Given the description of an element on the screen output the (x, y) to click on. 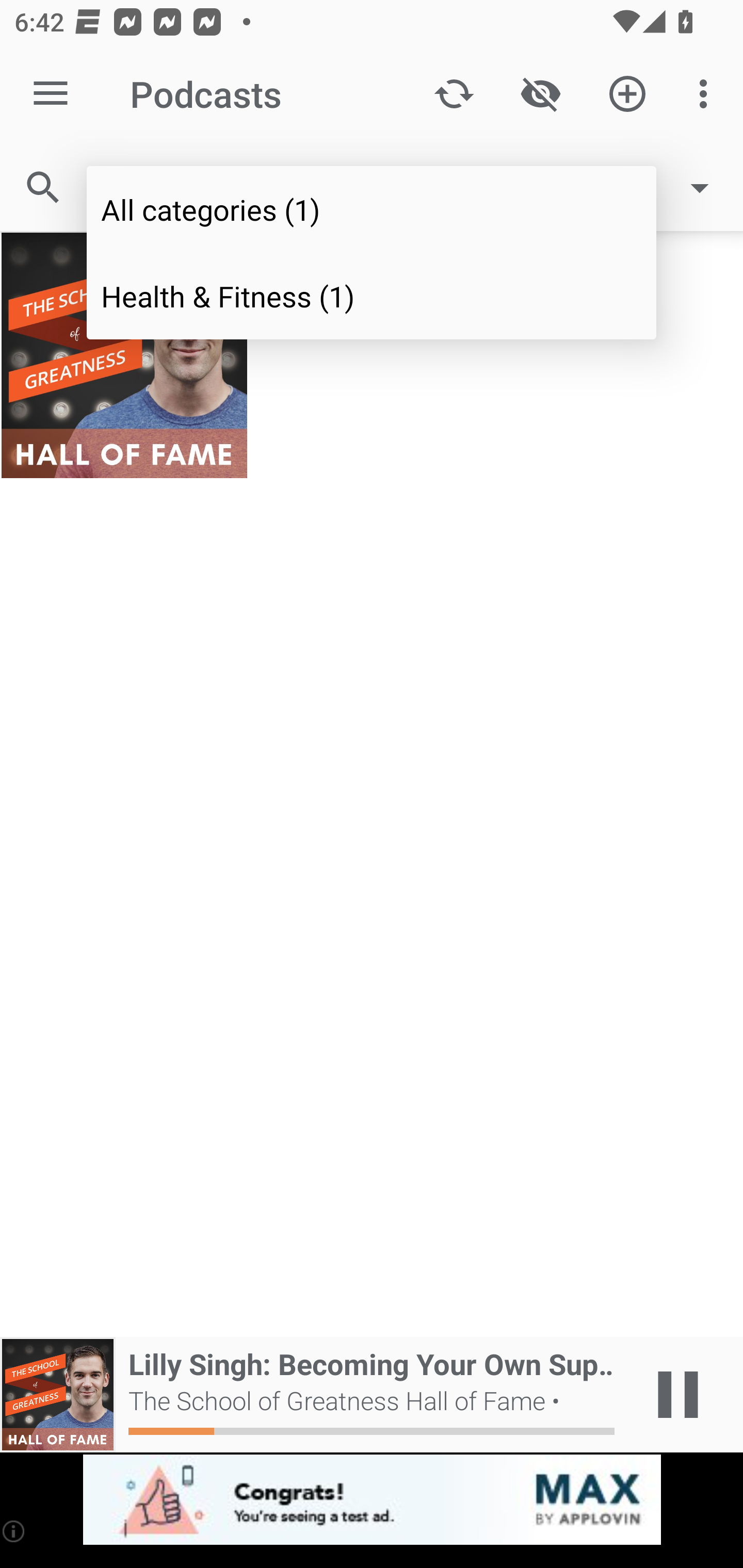
All categories (1) (371, 209)
Health & Fitness (1) (371, 295)
